Given the description of an element on the screen output the (x, y) to click on. 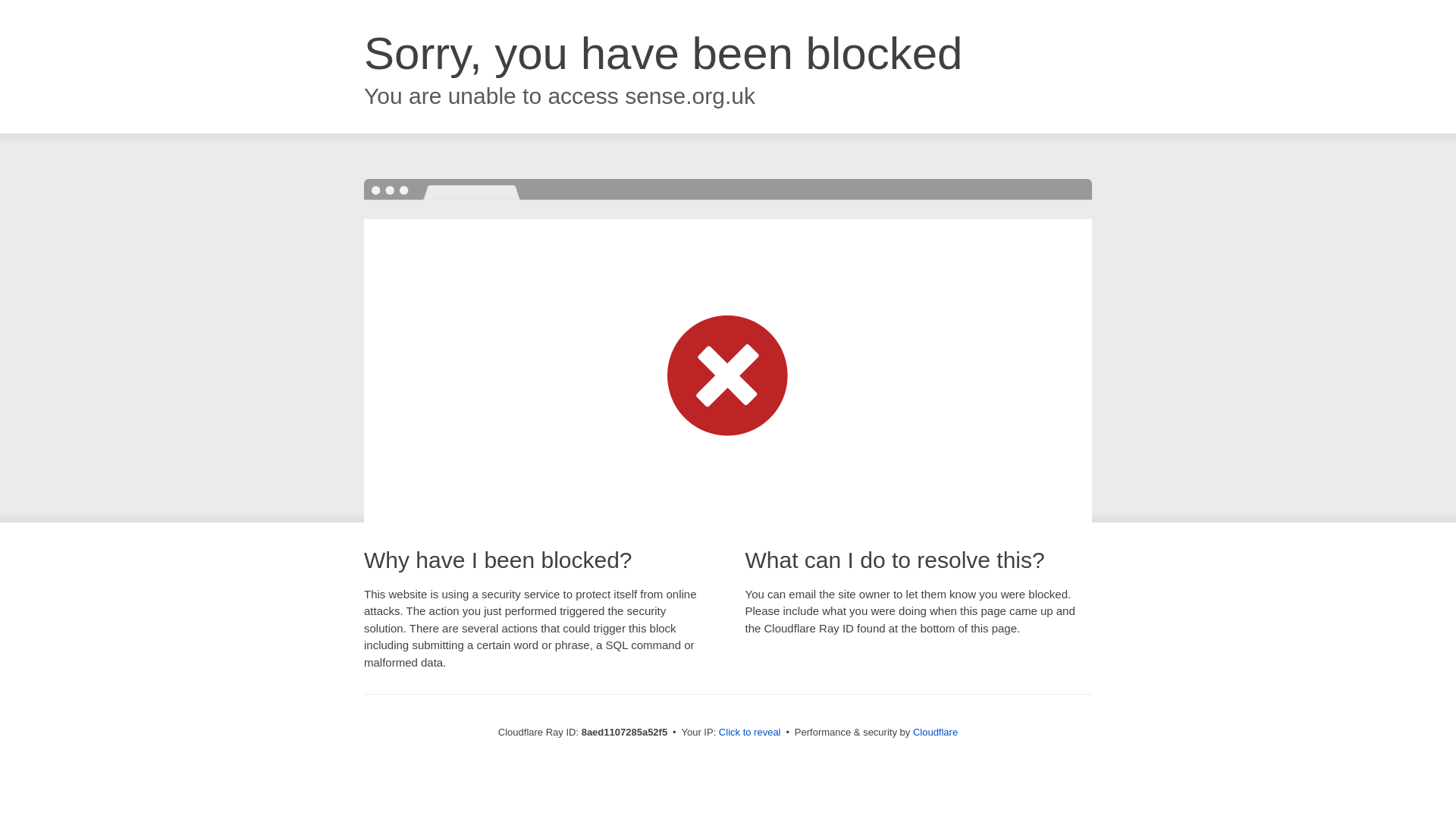
Cloudflare (935, 731)
Click to reveal (749, 732)
